Given the description of an element on the screen output the (x, y) to click on. 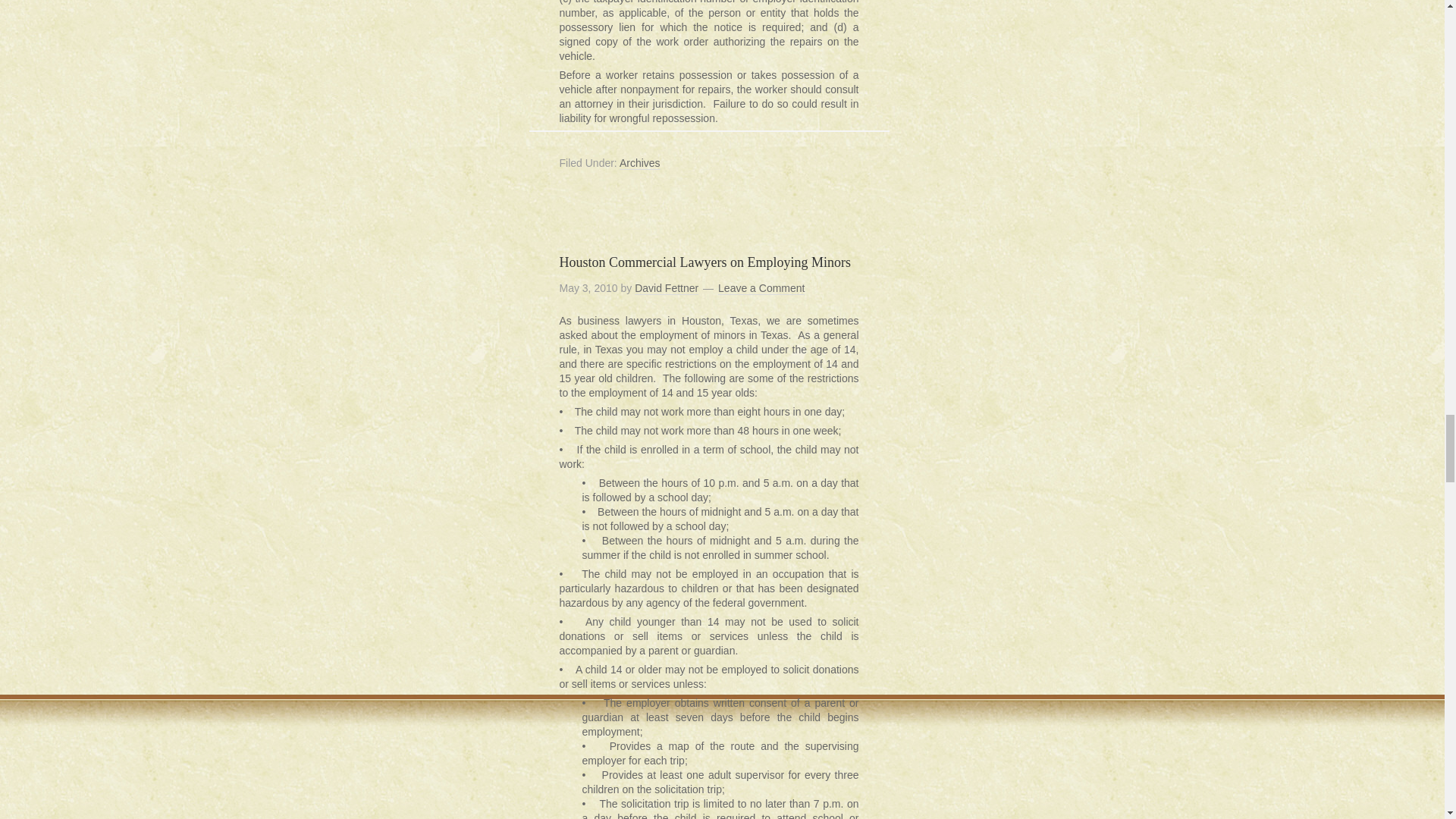
Houston Commercial Lawyers on Employing Minors (704, 262)
David Fettner (666, 287)
Leave a Comment (761, 287)
Archives (640, 163)
